Given the description of an element on the screen output the (x, y) to click on. 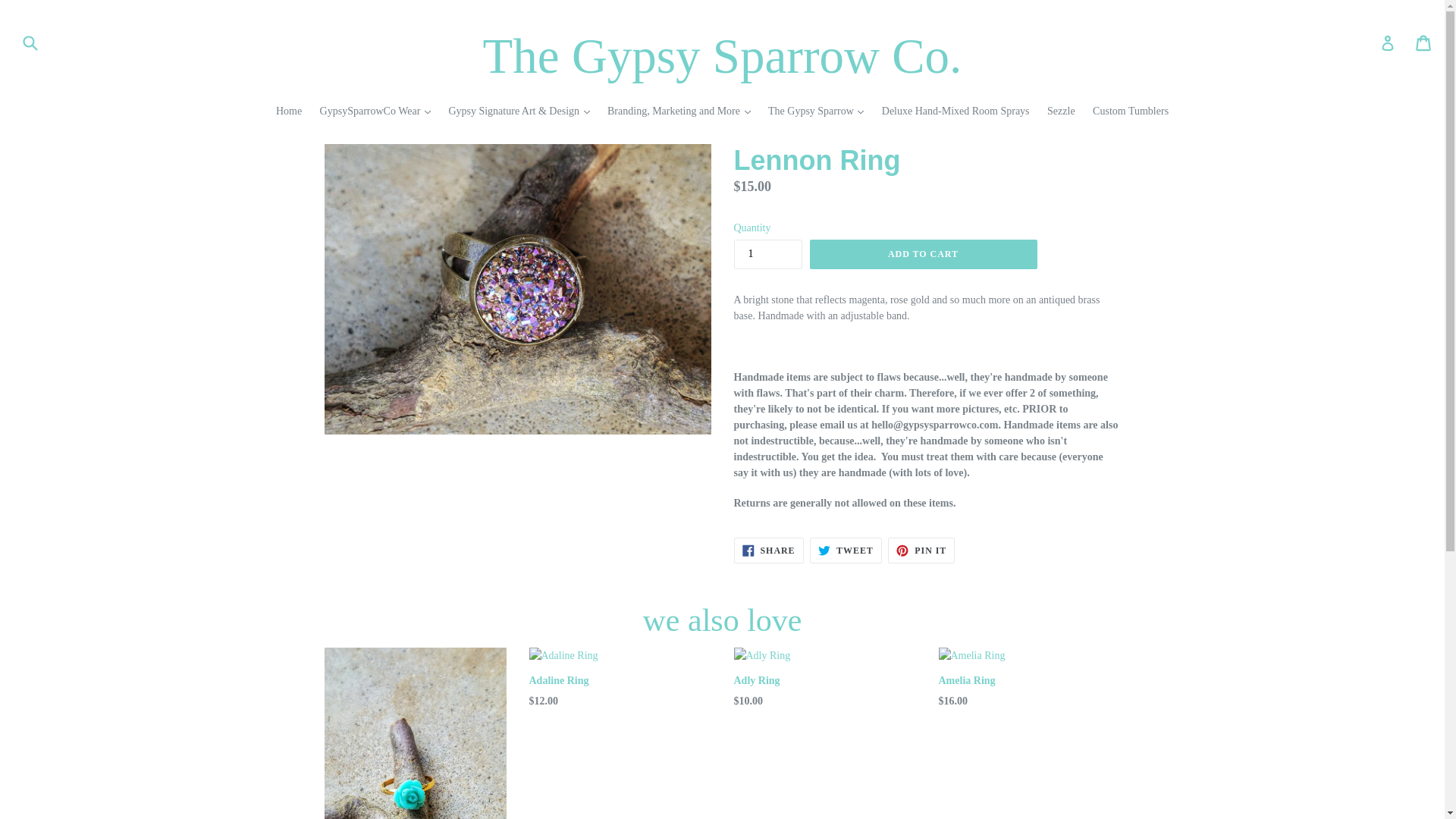
Tweet on Twitter (845, 550)
Share on Facebook (768, 550)
Pin on Pinterest (921, 550)
1 (767, 254)
